Given the description of an element on the screen output the (x, y) to click on. 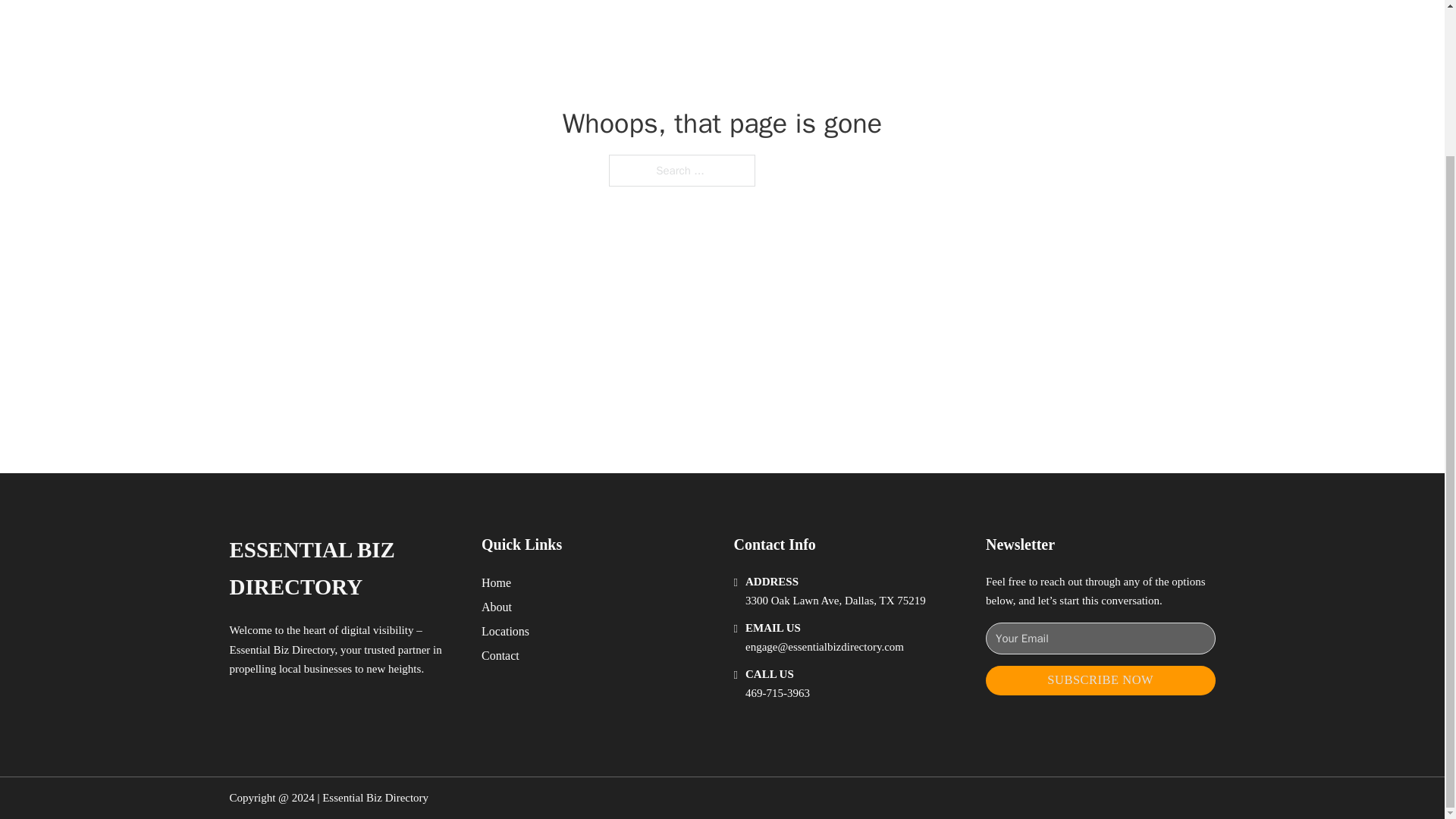
ESSENTIAL BIZ DIRECTORY (343, 568)
About (496, 607)
Contact (500, 655)
469-715-3963 (777, 693)
SUBSCRIBE NOW (1100, 680)
Home (496, 582)
Locations (505, 630)
